Given the description of an element on the screen output the (x, y) to click on. 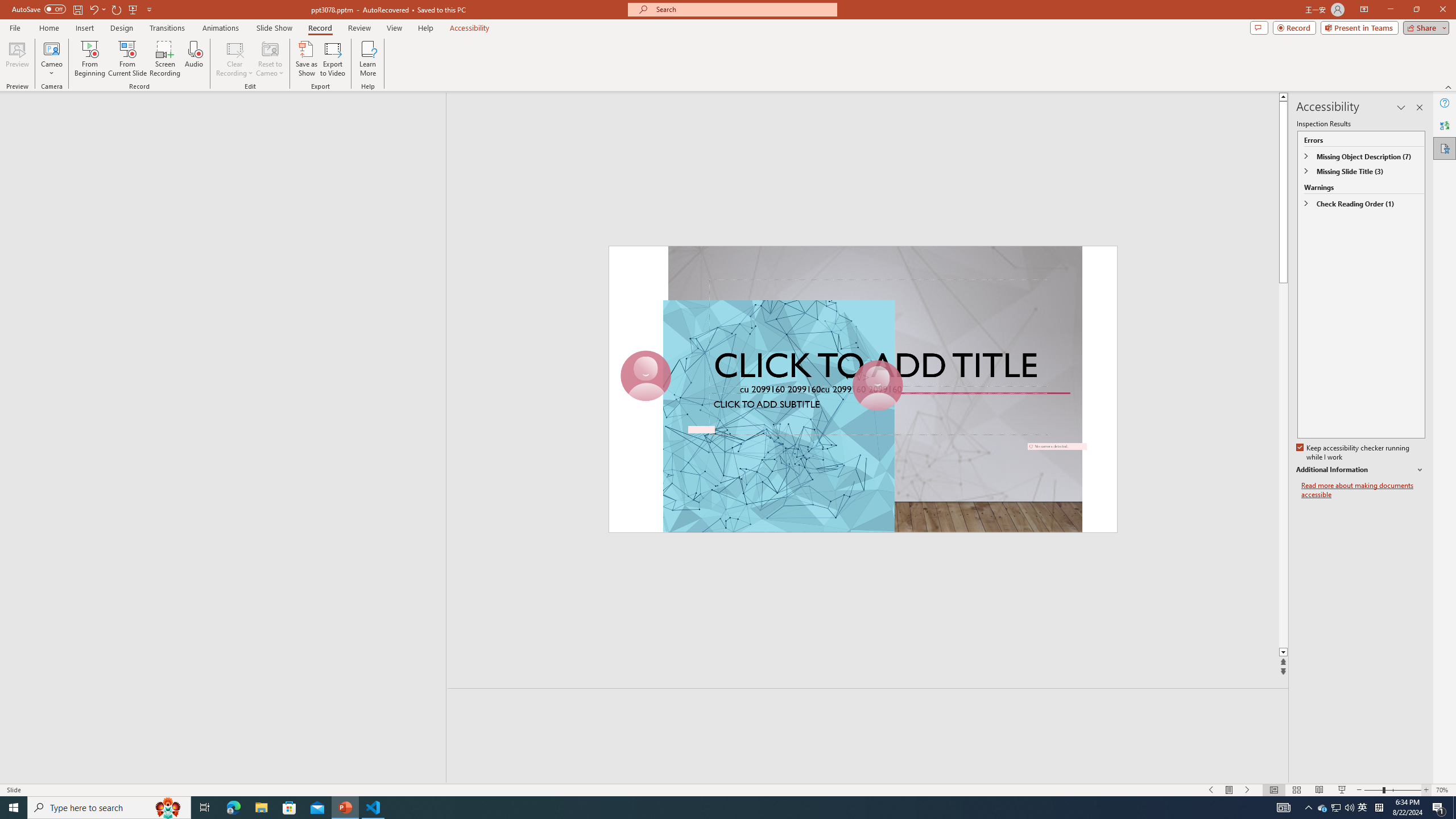
TextBox 61 (1021, 459)
Zoom 70% (1443, 790)
